Given the description of an element on the screen output the (x, y) to click on. 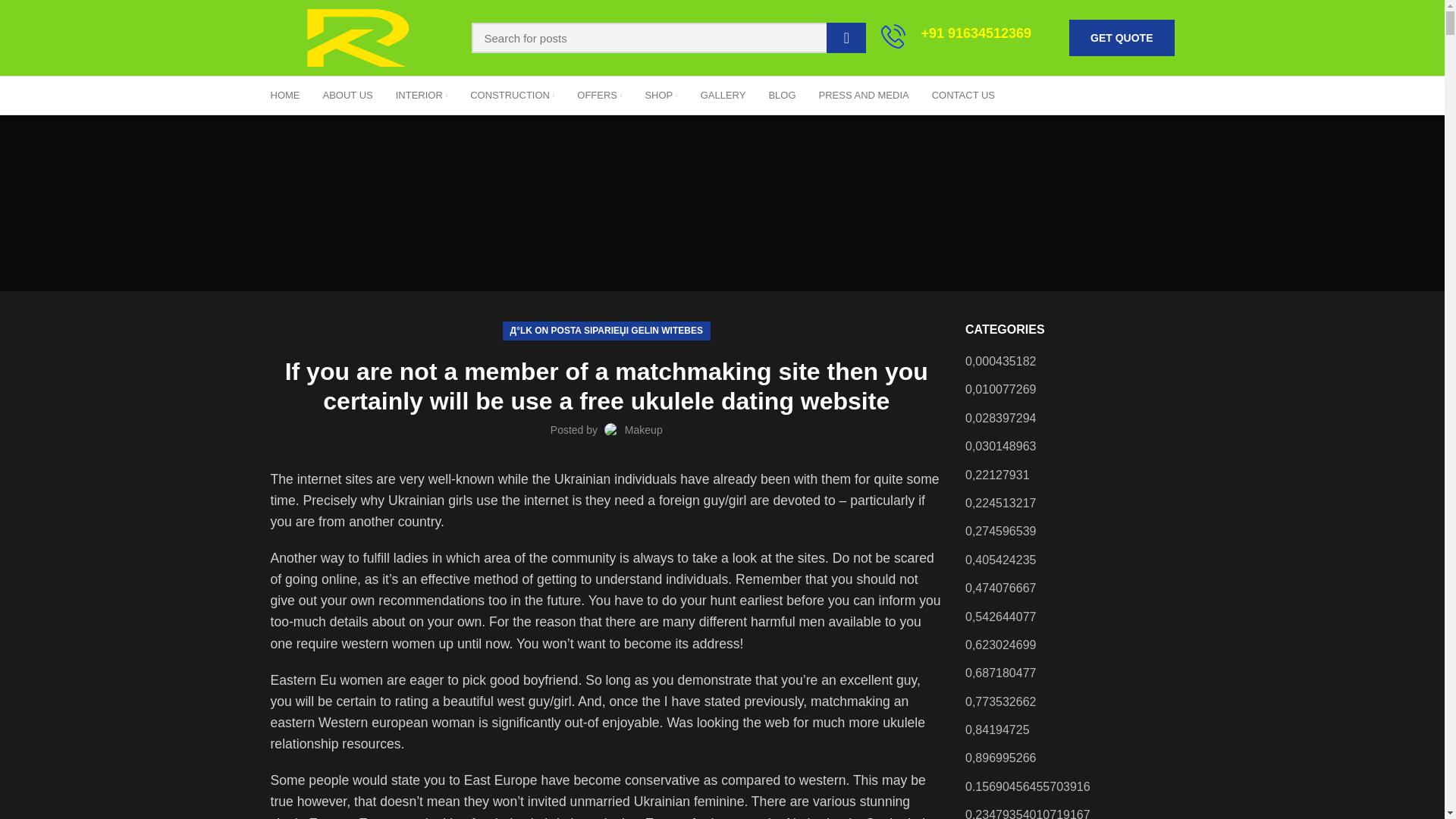
CONSTRUCTION (512, 95)
INTERIOR (422, 95)
PRESS AND MEDIA (864, 95)
ABOUT US (347, 95)
CONTACT US (963, 95)
BLOG (781, 95)
HOME (285, 95)
GET QUOTE (1120, 37)
SEARCH (846, 37)
OFFERS (599, 95)
GALLERY (722, 95)
Search for posts (668, 37)
SHOP (660, 95)
